Given the description of an element on the screen output the (x, y) to click on. 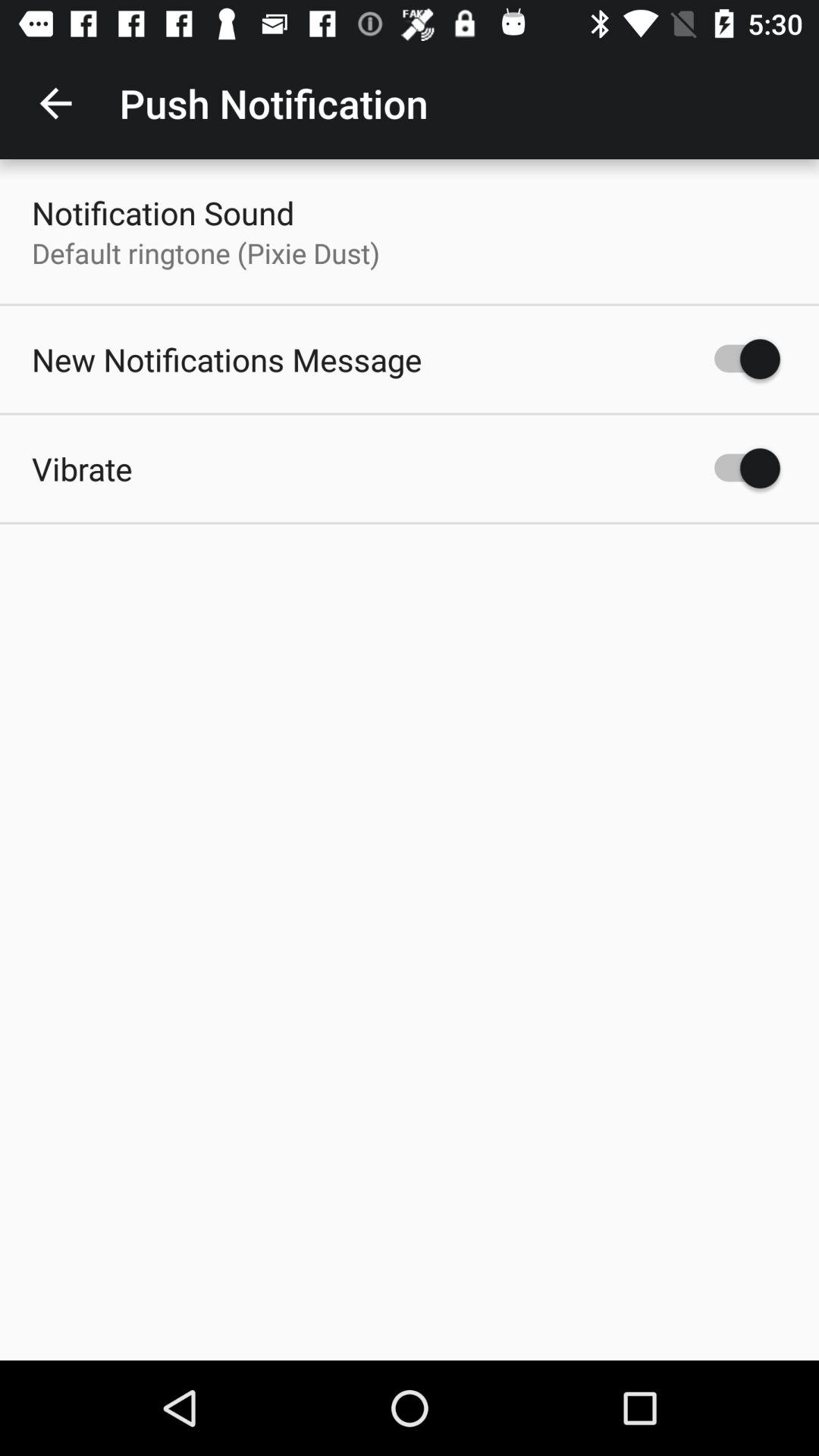
choose item above the vibrate icon (226, 359)
